Given the description of an element on the screen output the (x, y) to click on. 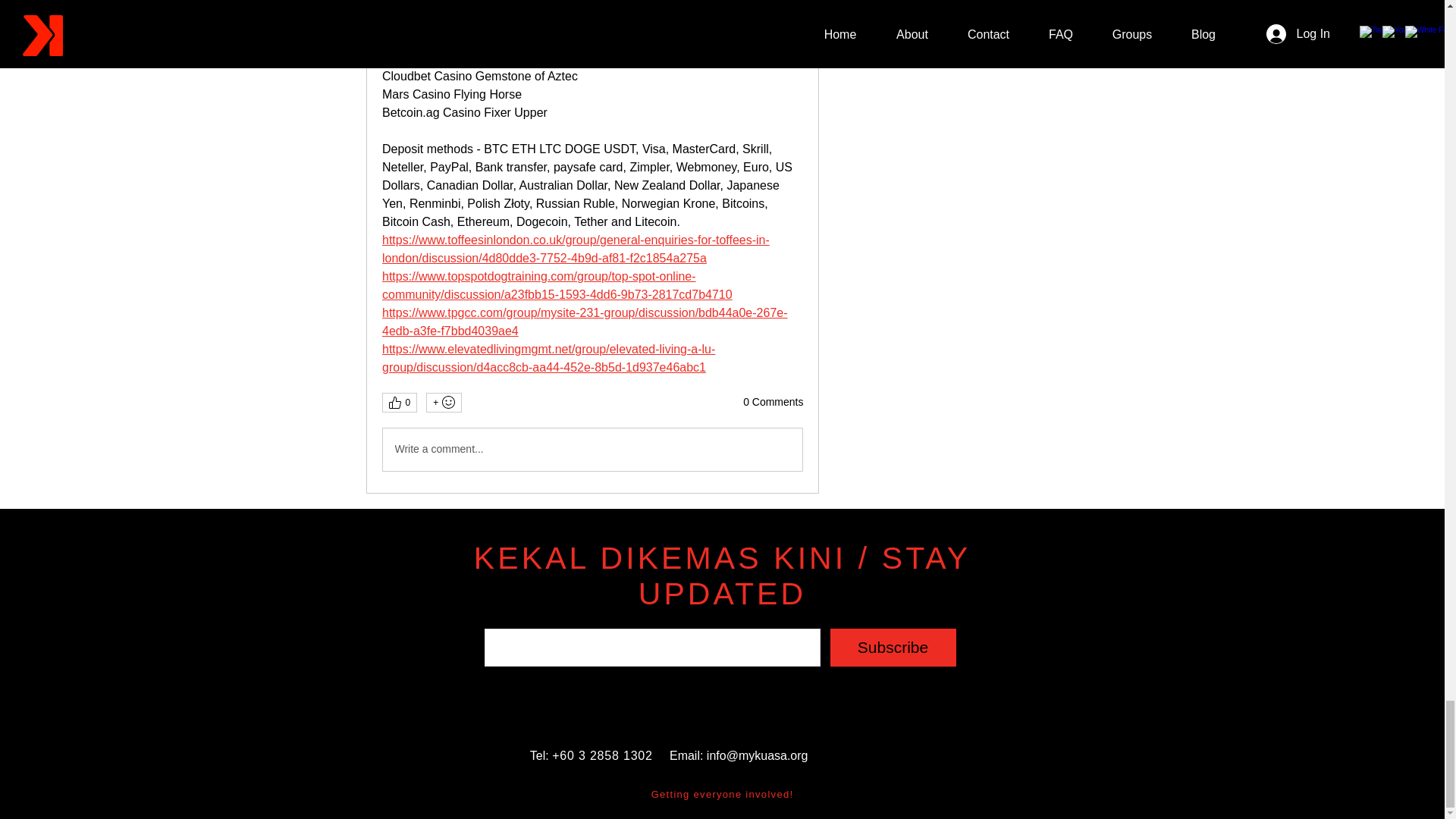
0 Comments (772, 402)
Write a comment... (591, 449)
